Given the description of an element on the screen output the (x, y) to click on. 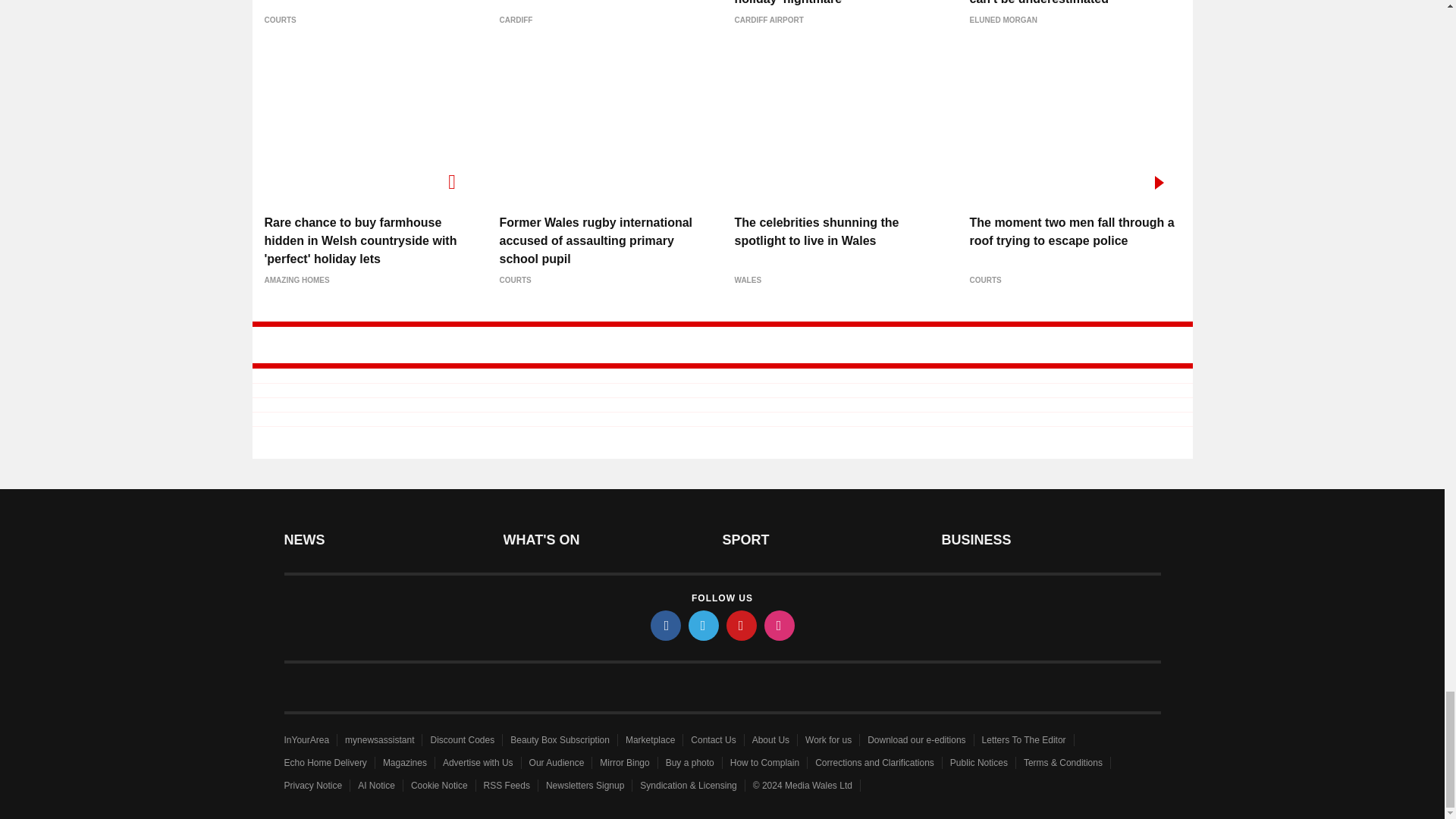
twitter (703, 625)
instagram (779, 625)
facebook (665, 625)
pinterest (741, 625)
